Given the description of an element on the screen output the (x, y) to click on. 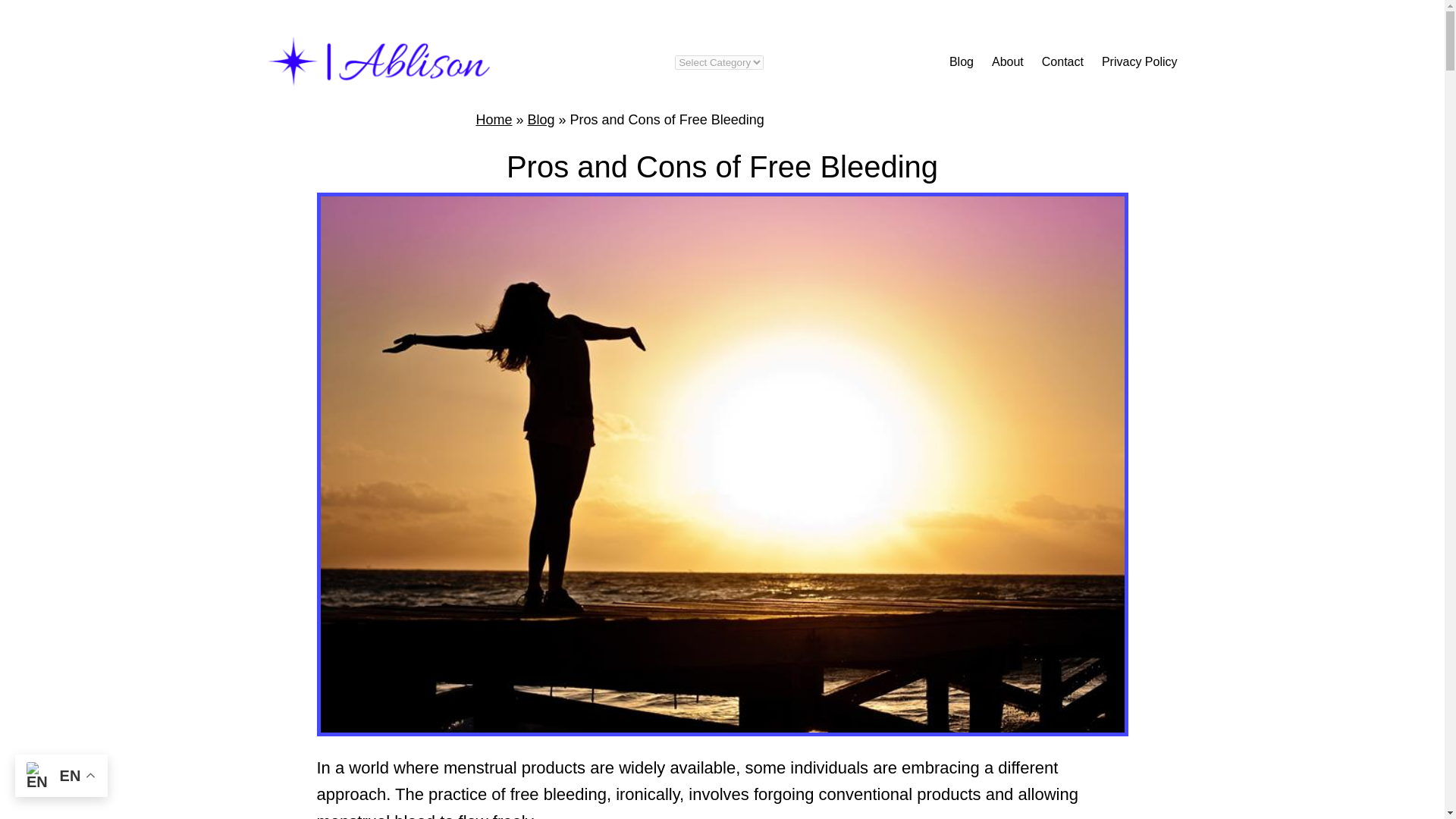
Privacy Policy (1139, 62)
Blog (540, 119)
Blog (961, 62)
Home (494, 119)
About (1007, 62)
Contact (1062, 62)
